Given the description of an element on the screen output the (x, y) to click on. 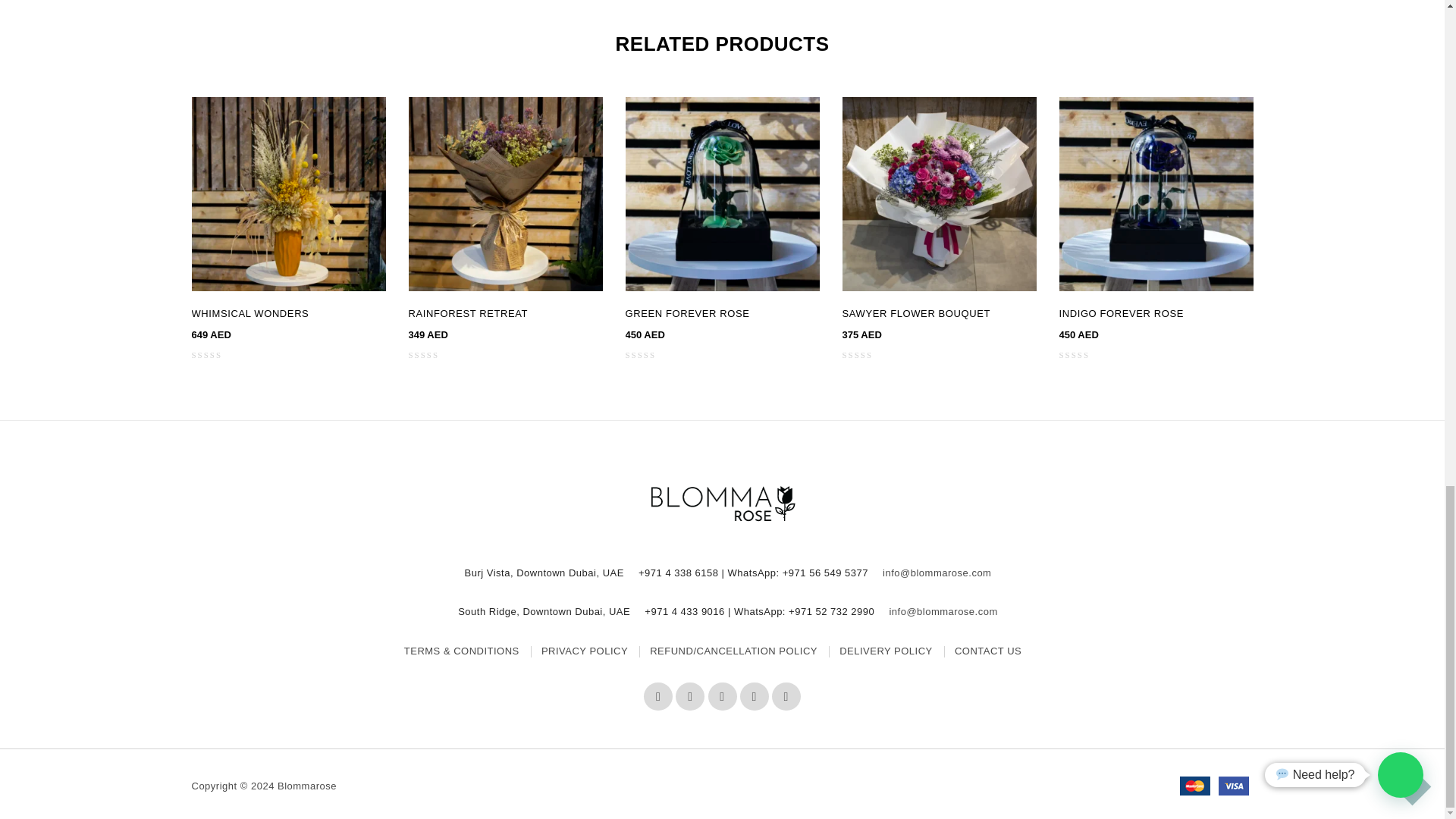
Not yet rated (432, 354)
Not yet rated (649, 354)
Not yet rated (215, 354)
Not yet rated (866, 354)
Not yet rated (1083, 354)
